Given the description of an element on the screen output the (x, y) to click on. 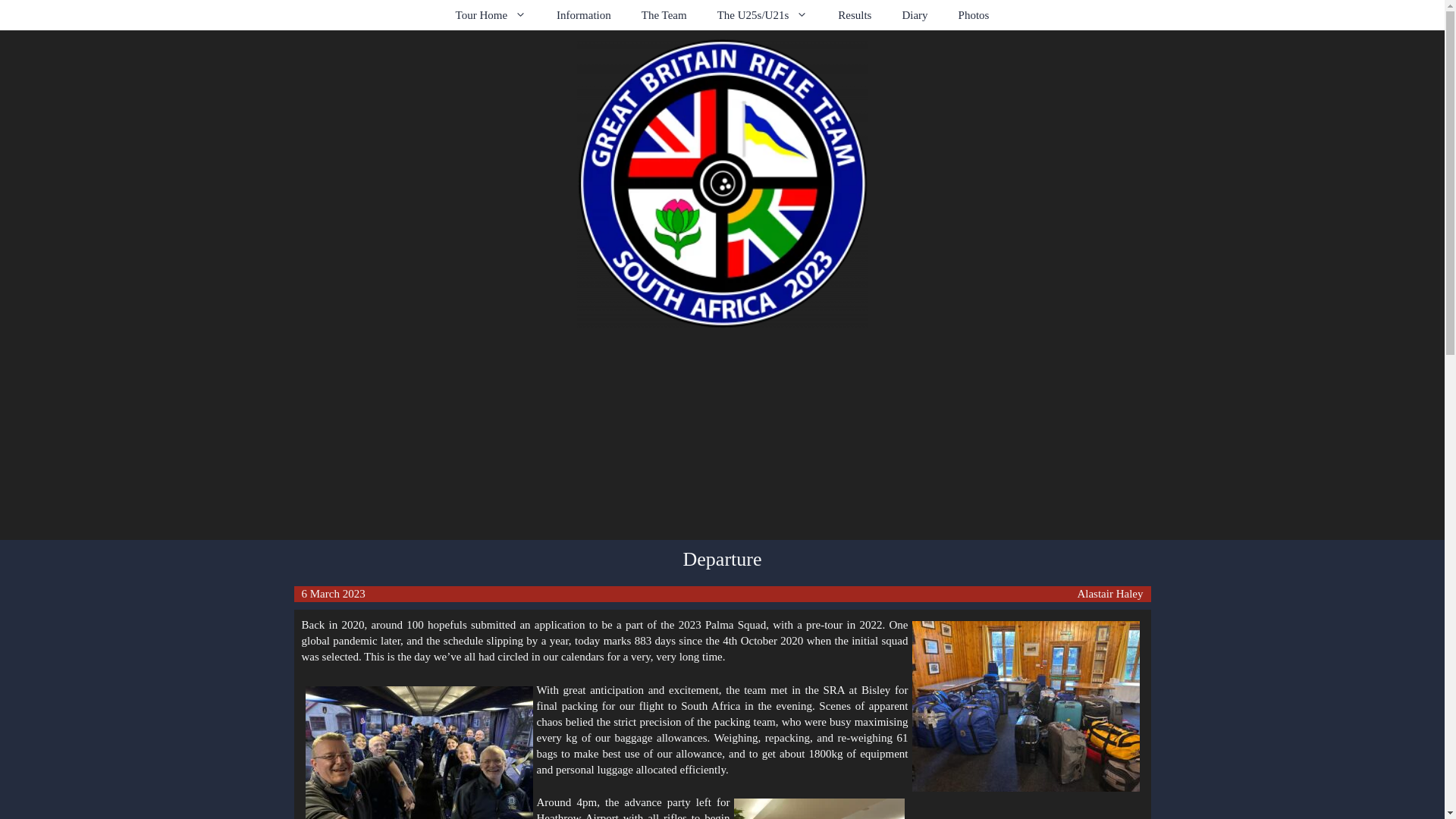
sa2023-logo-high (721, 183)
Tour Home (491, 15)
Diary (914, 15)
2be55160-792b-4c9a-a492-b724c7ceb01a (418, 752)
Results (854, 15)
The Team (663, 15)
Photos (973, 15)
Information (583, 15)
9c27dda9-c864-499b-97f0-017ac4a95055 (1024, 705)
